Given the description of an element on the screen output the (x, y) to click on. 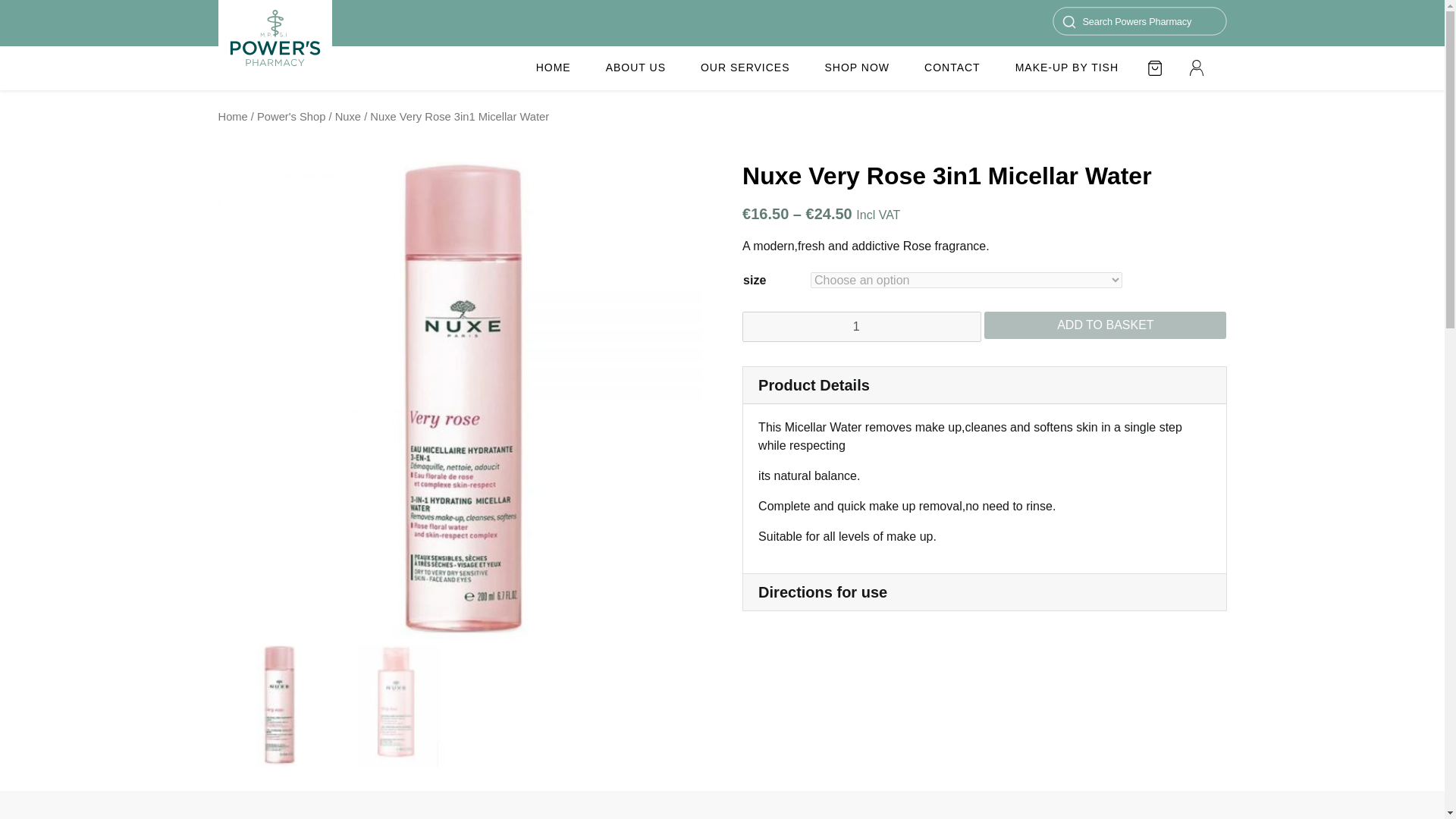
HOME (553, 67)
OUR SERVICES (744, 67)
Powers Pharmacy (274, 45)
1 (861, 327)
ABOUT US (635, 67)
